Given the description of an element on the screen output the (x, y) to click on. 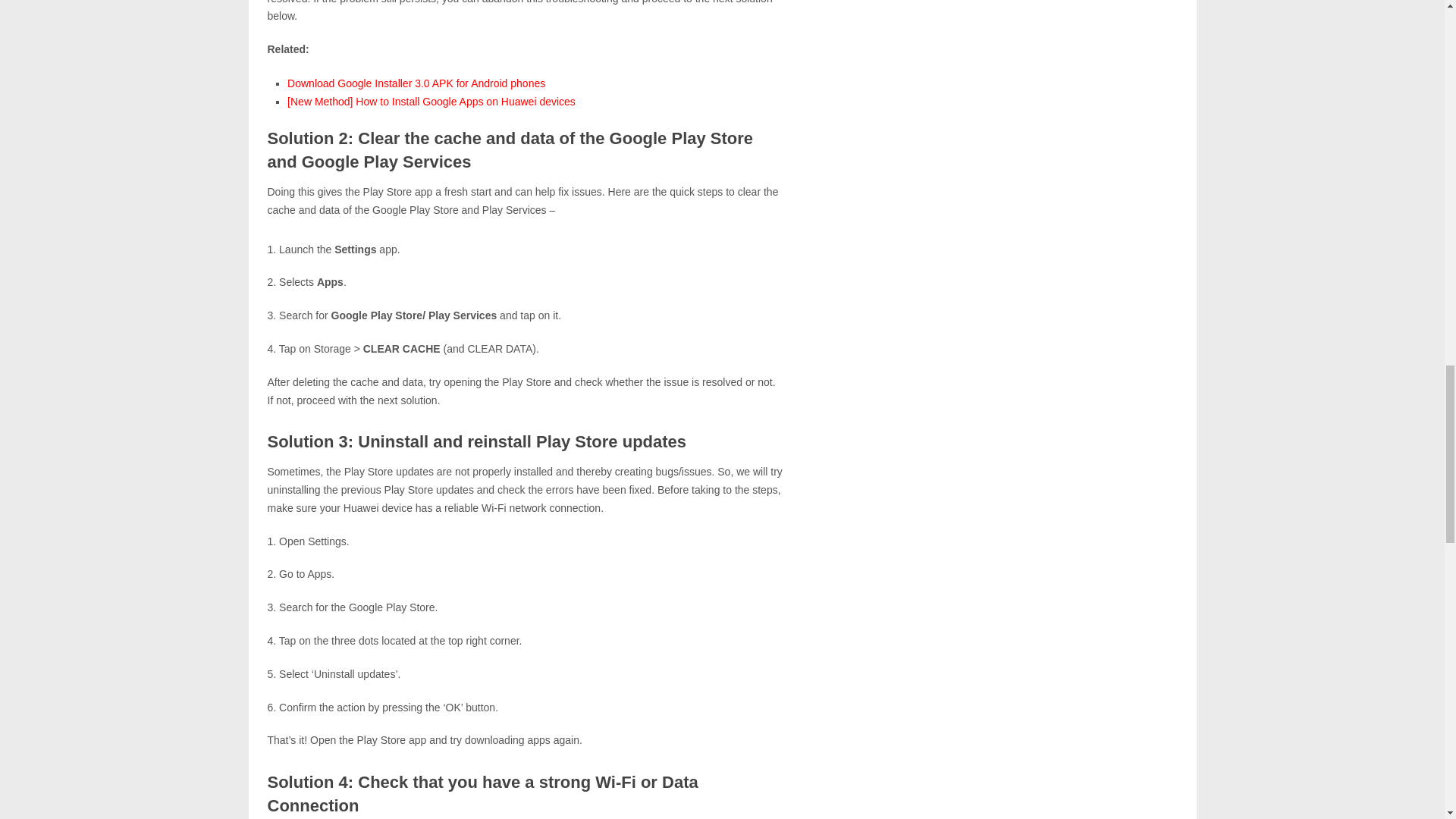
Download Google Installer 3.0 APK for Android phones (415, 82)
